Given the description of an element on the screen output the (x, y) to click on. 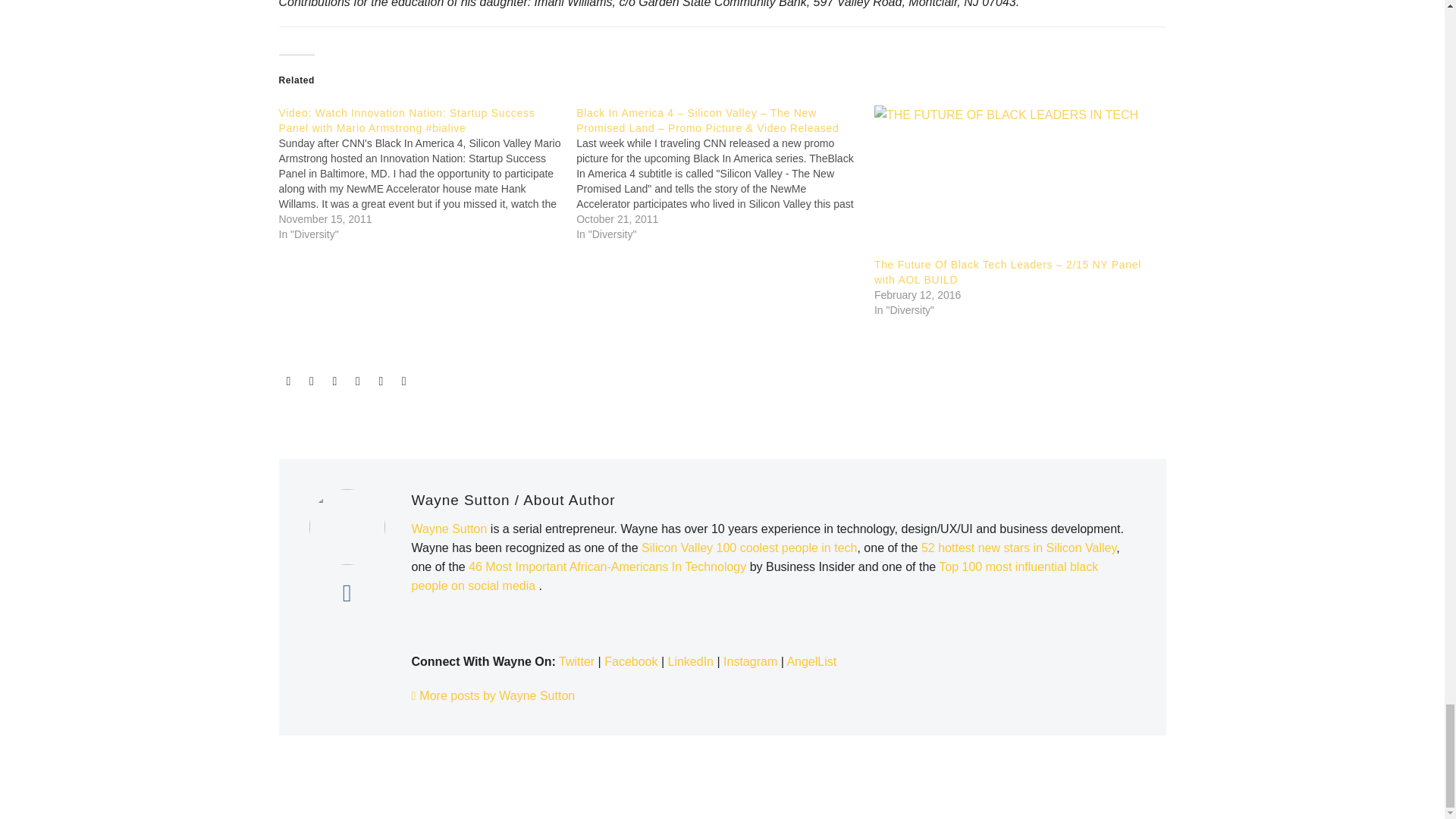
Twitter (311, 381)
Pinterest (334, 381)
Tumblr (358, 381)
Facebook (288, 381)
